Given the description of an element on the screen output the (x, y) to click on. 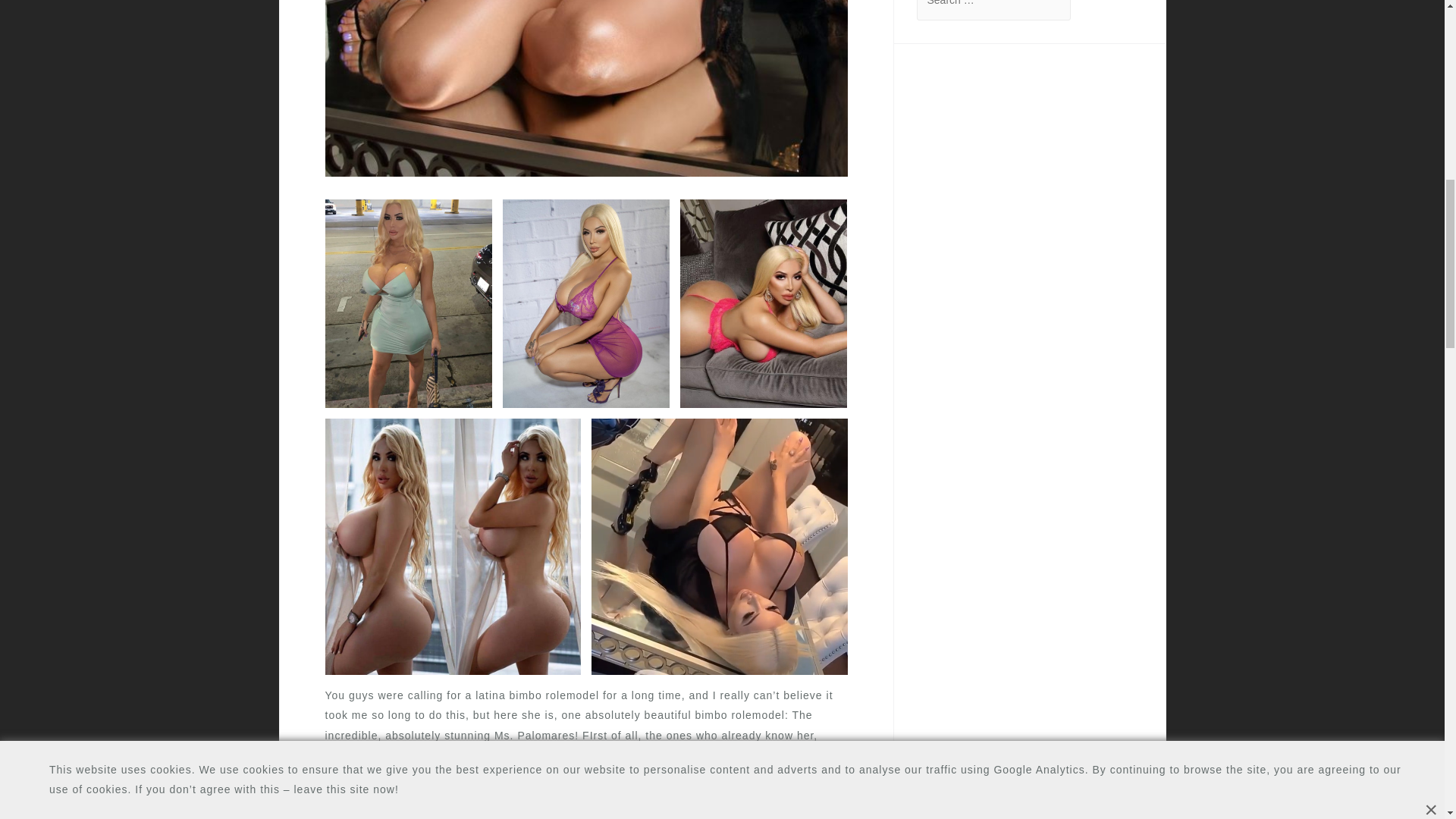
rolemodel (652, 796)
